Given the description of an element on the screen output the (x, y) to click on. 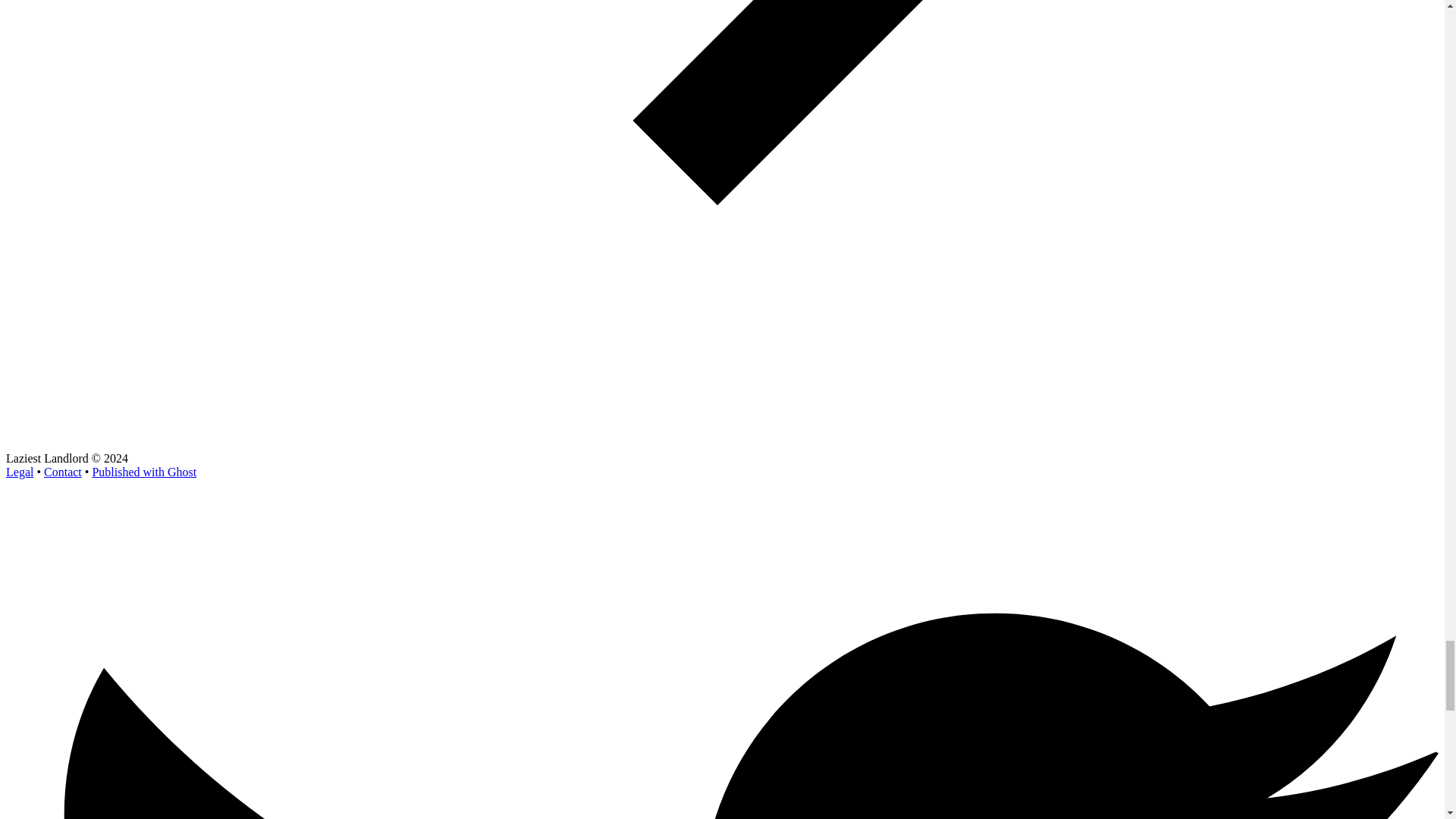
Contact (62, 472)
Published with Ghost (143, 472)
Legal (19, 472)
